Given the description of an element on the screen output the (x, y) to click on. 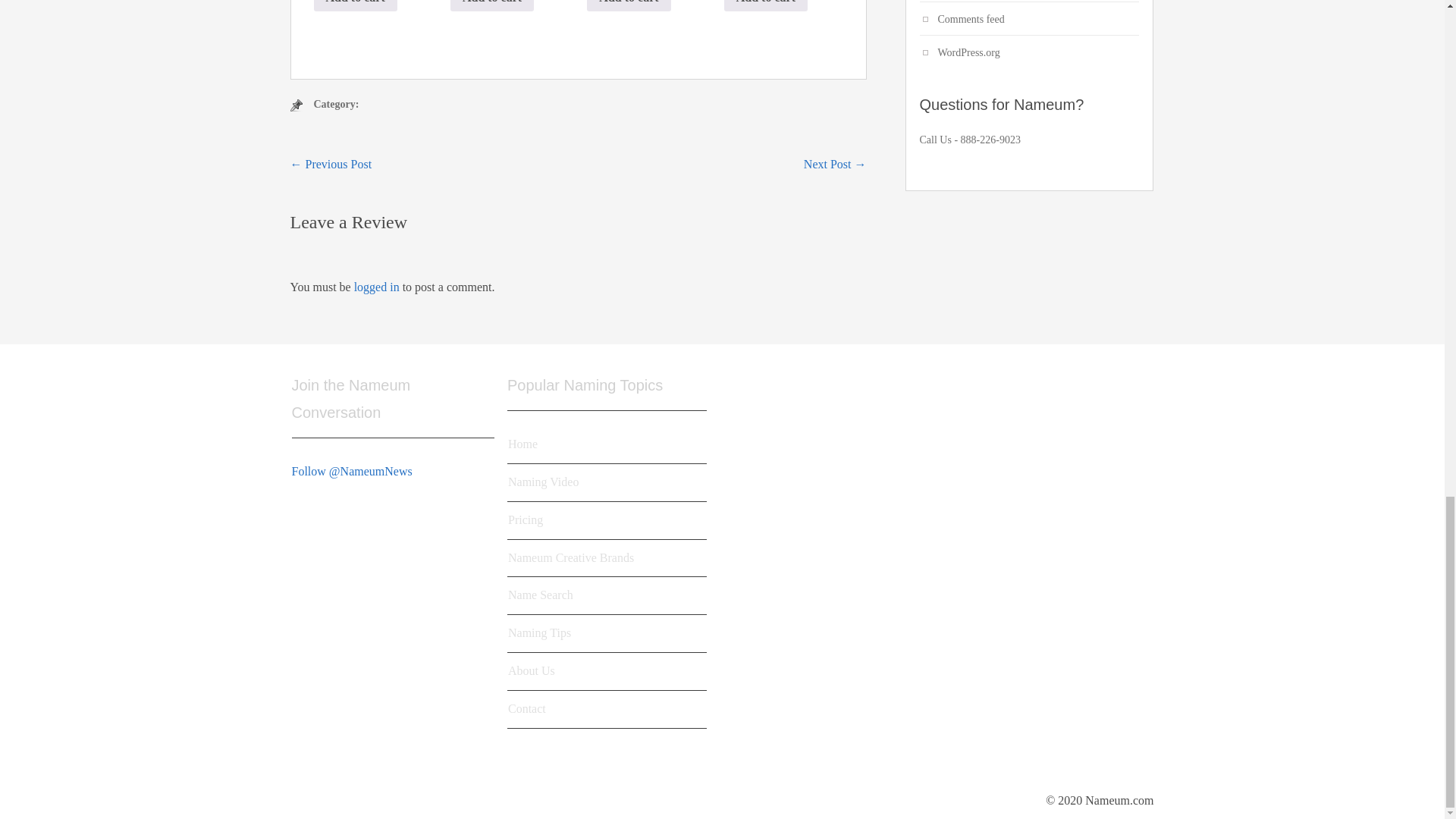
Add to cart (491, 6)
Add to cart (765, 6)
Add to cart (627, 6)
logged in (375, 286)
Add to cart (355, 6)
